Given the description of an element on the screen output the (x, y) to click on. 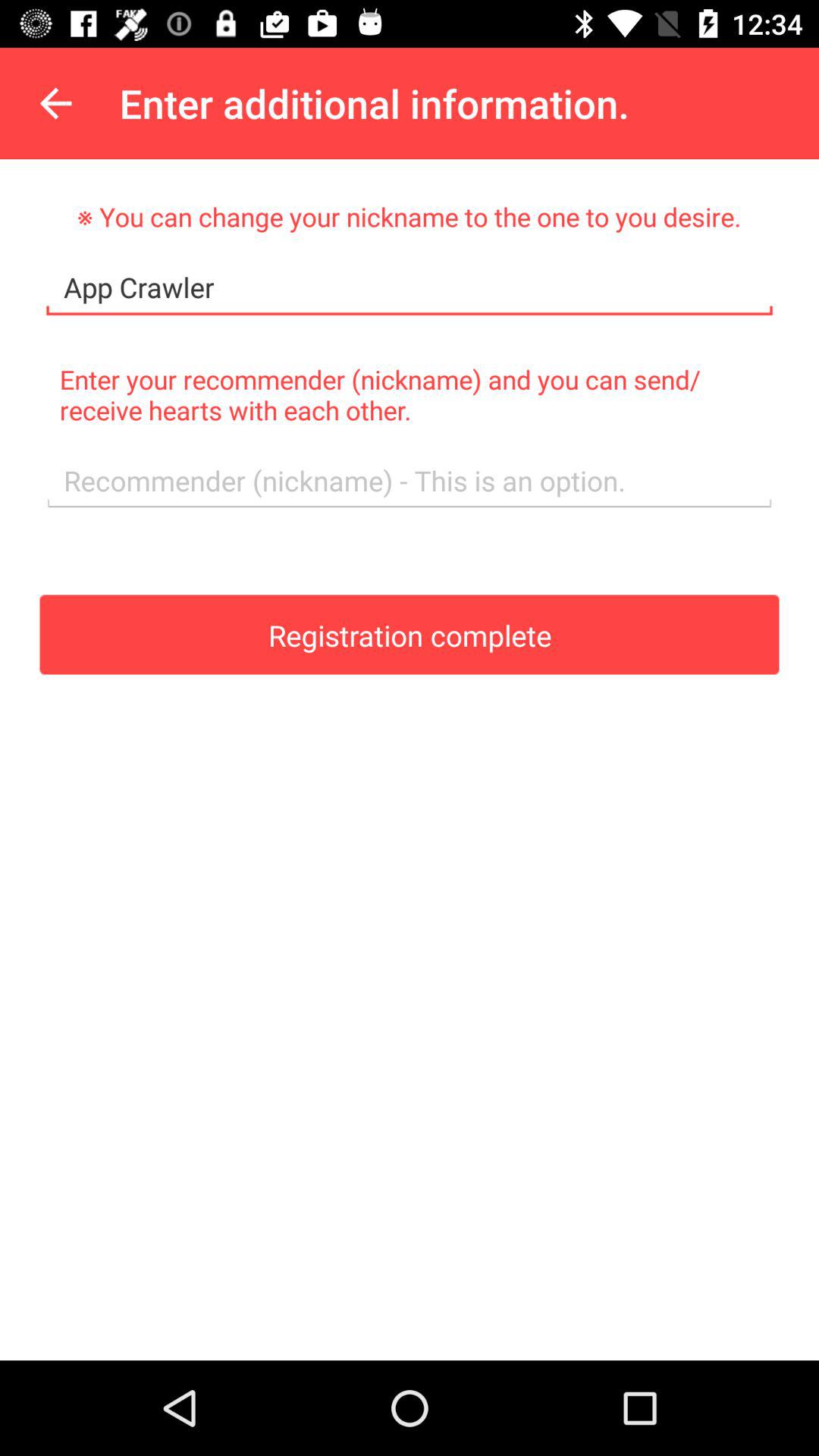
launch the item below the you can change item (409, 287)
